Given the description of an element on the screen output the (x, y) to click on. 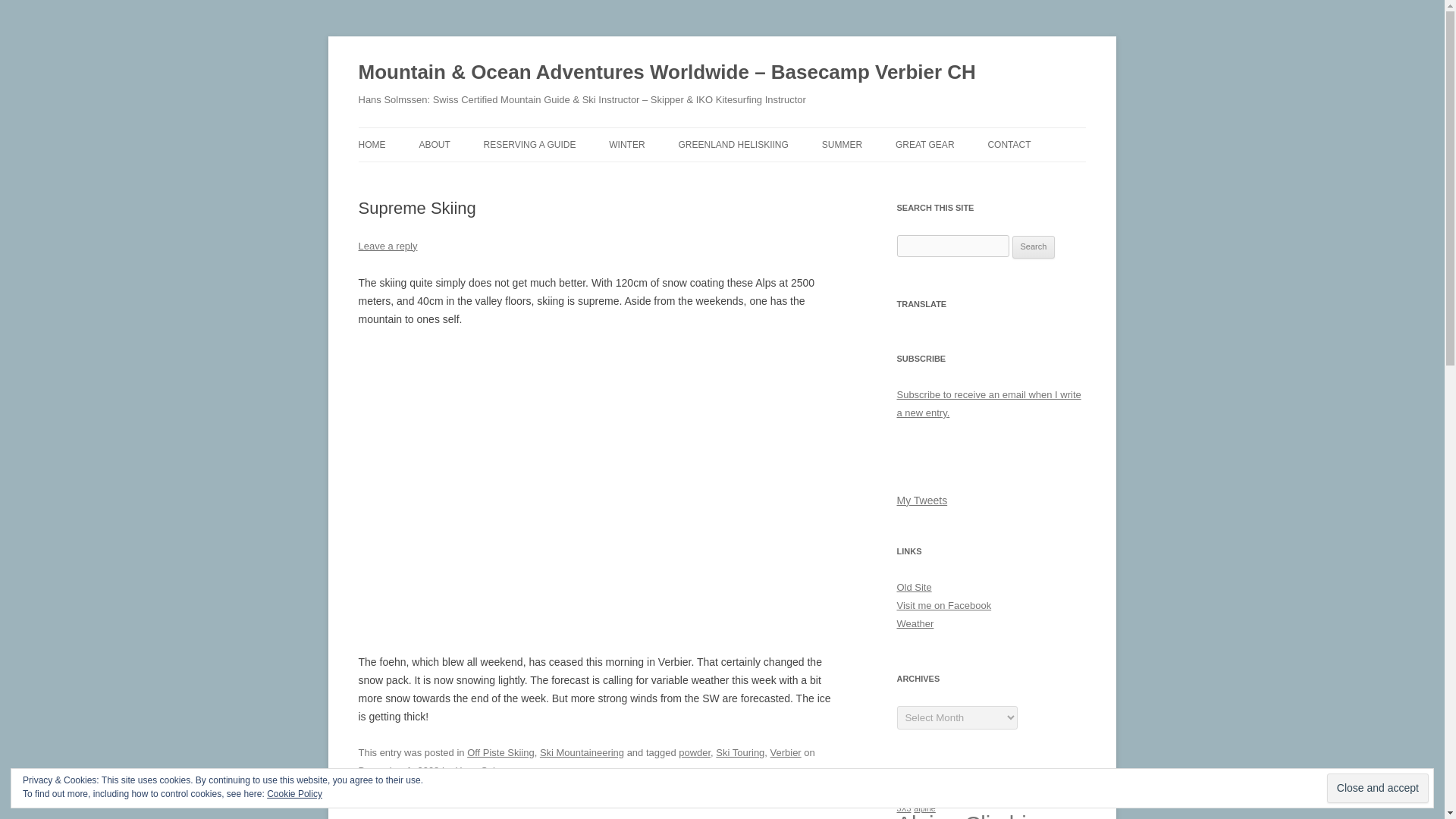
December 1, 2008 (398, 770)
The Swiss forecast (914, 623)
GREAT GEAR (925, 144)
Search (1033, 246)
The archives from 2003 and older. (913, 586)
Verbier (786, 752)
CONTACT (1008, 144)
Ski Mountaineering (582, 752)
click to go to Facebook (943, 604)
SUMMER (841, 144)
RESERVING A GUIDE (529, 144)
ABOUT (434, 144)
Hans Solmssen (489, 770)
Close and accept (1377, 788)
